Given the description of an element on the screen output the (x, y) to click on. 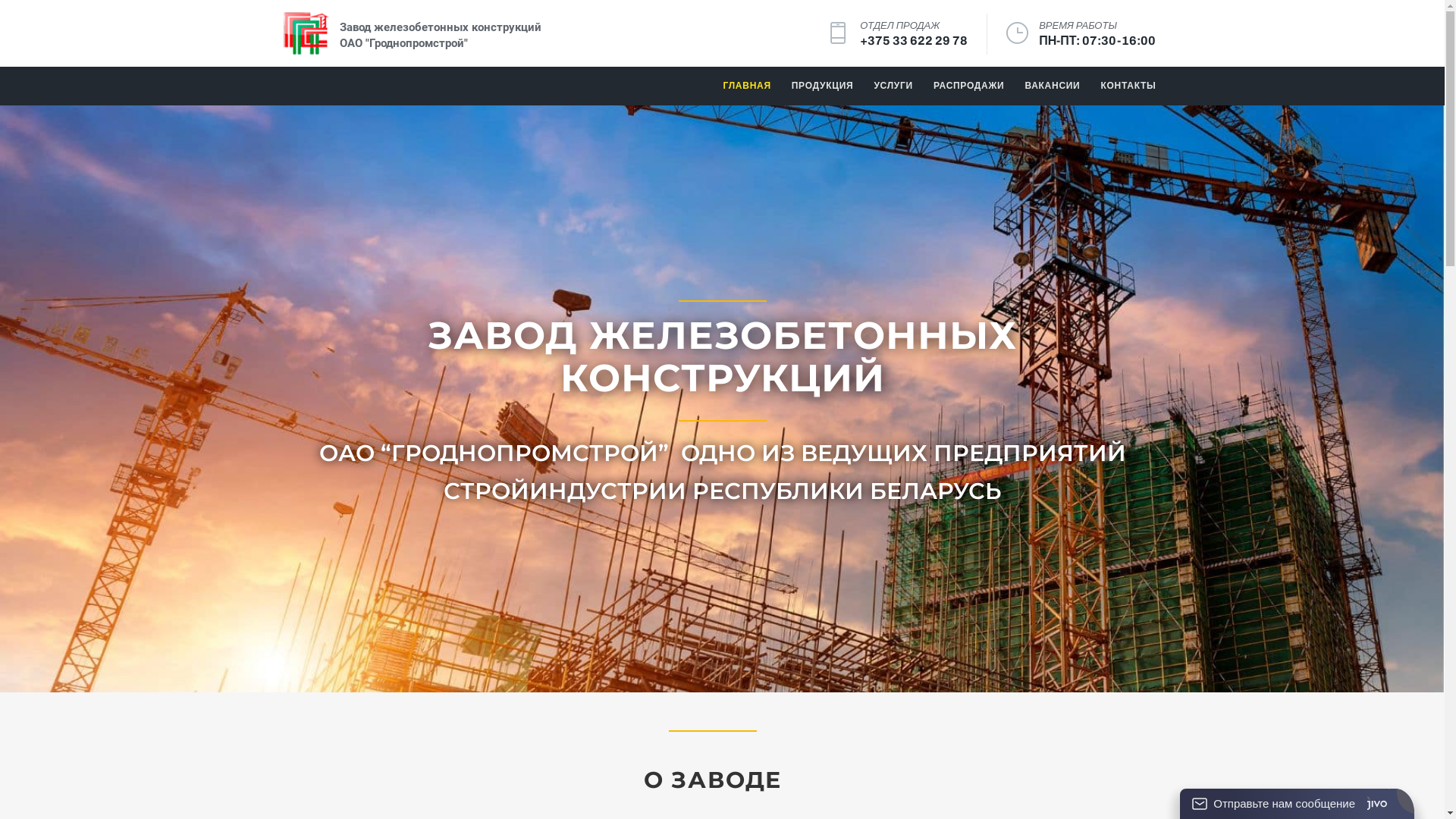
+375 33 622 29 78 Element type: text (913, 40)
